Given the description of an element on the screen output the (x, y) to click on. 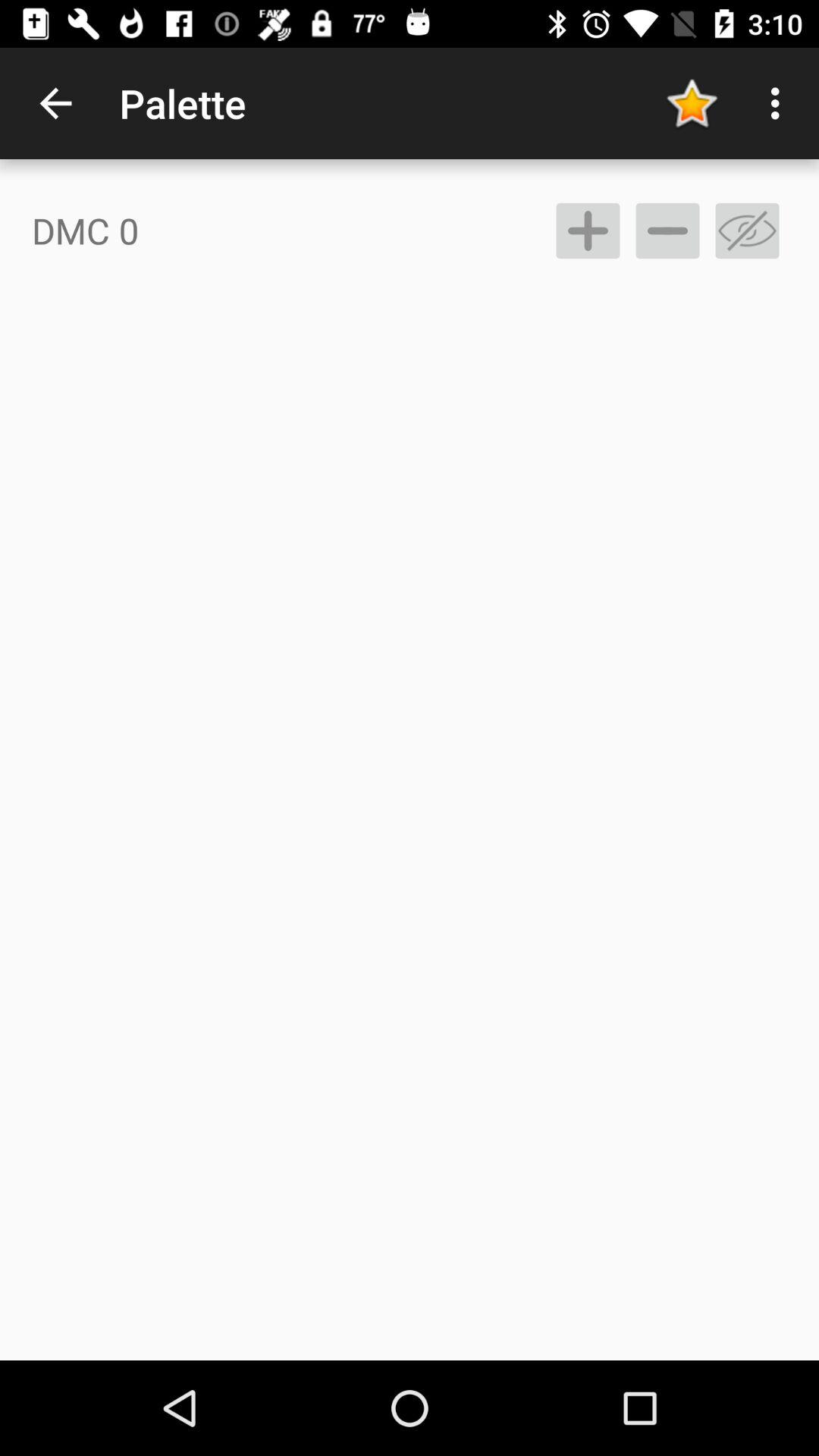
add new (587, 230)
